Given the description of an element on the screen output the (x, y) to click on. 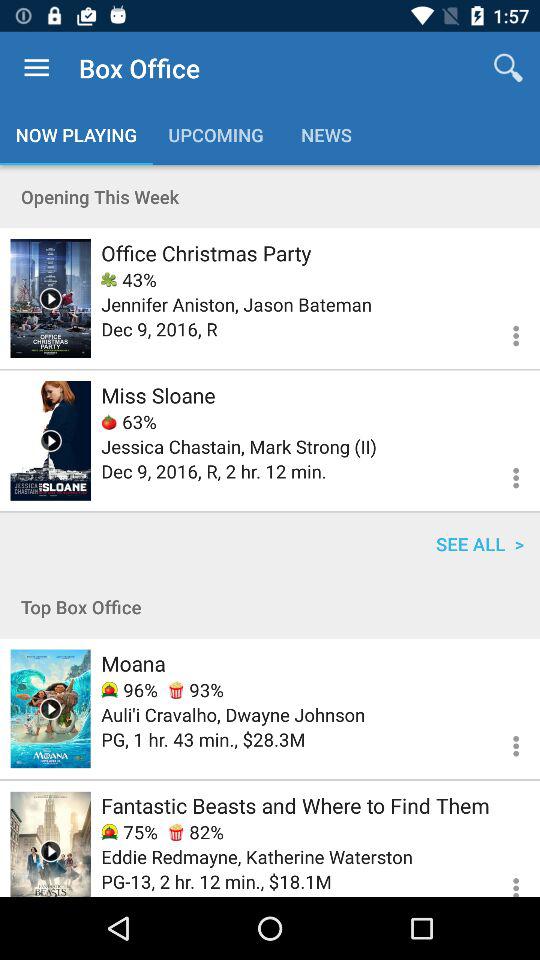
flip to office christmas party icon (206, 252)
